Given the description of an element on the screen output the (x, y) to click on. 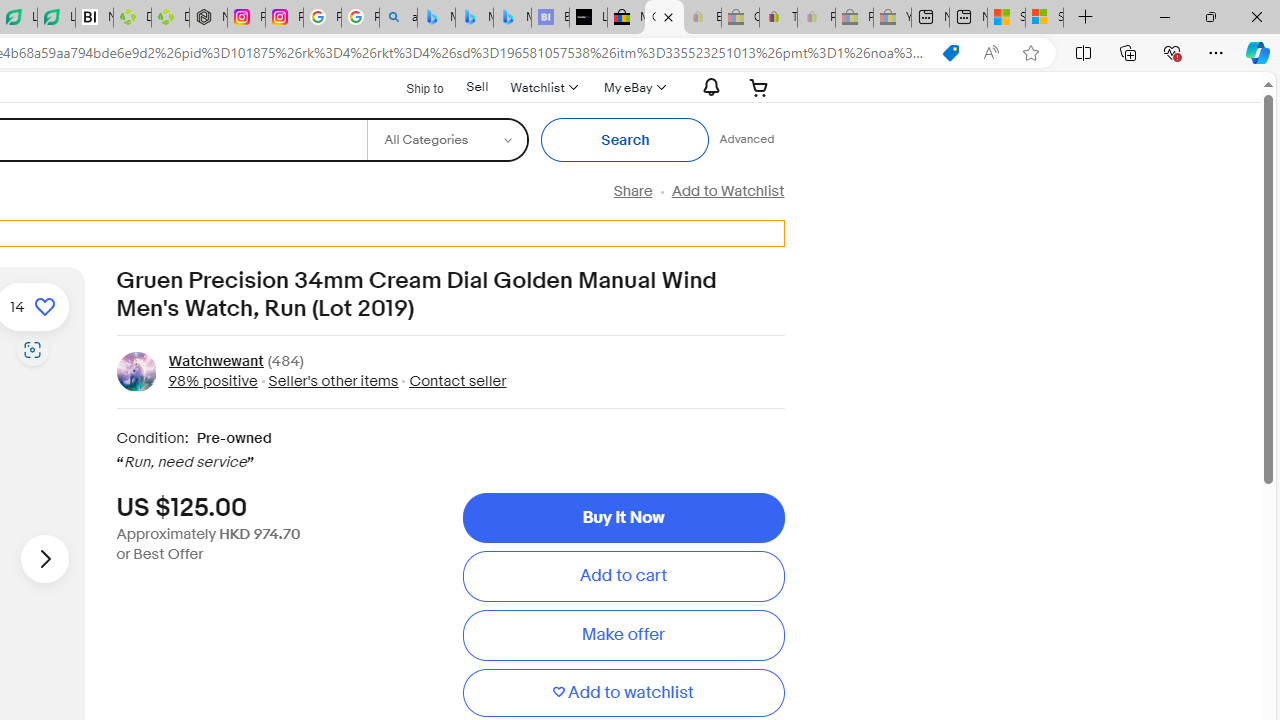
AutomationID: gh-eb-Alerts (708, 87)
My eBayExpand My eBay (632, 87)
WatchlistExpand Watch List (543, 87)
You have the best price! Shopping in Microsoft Edge (950, 53)
Buy It Now (623, 517)
(484) (285, 361)
Microsoft Bing Travel - Flights from Hong Kong to Bangkok (436, 17)
Seller's other items (333, 380)
Press Room - eBay Inc. - Sleeping (853, 17)
